Given the description of an element on the screen output the (x, y) to click on. 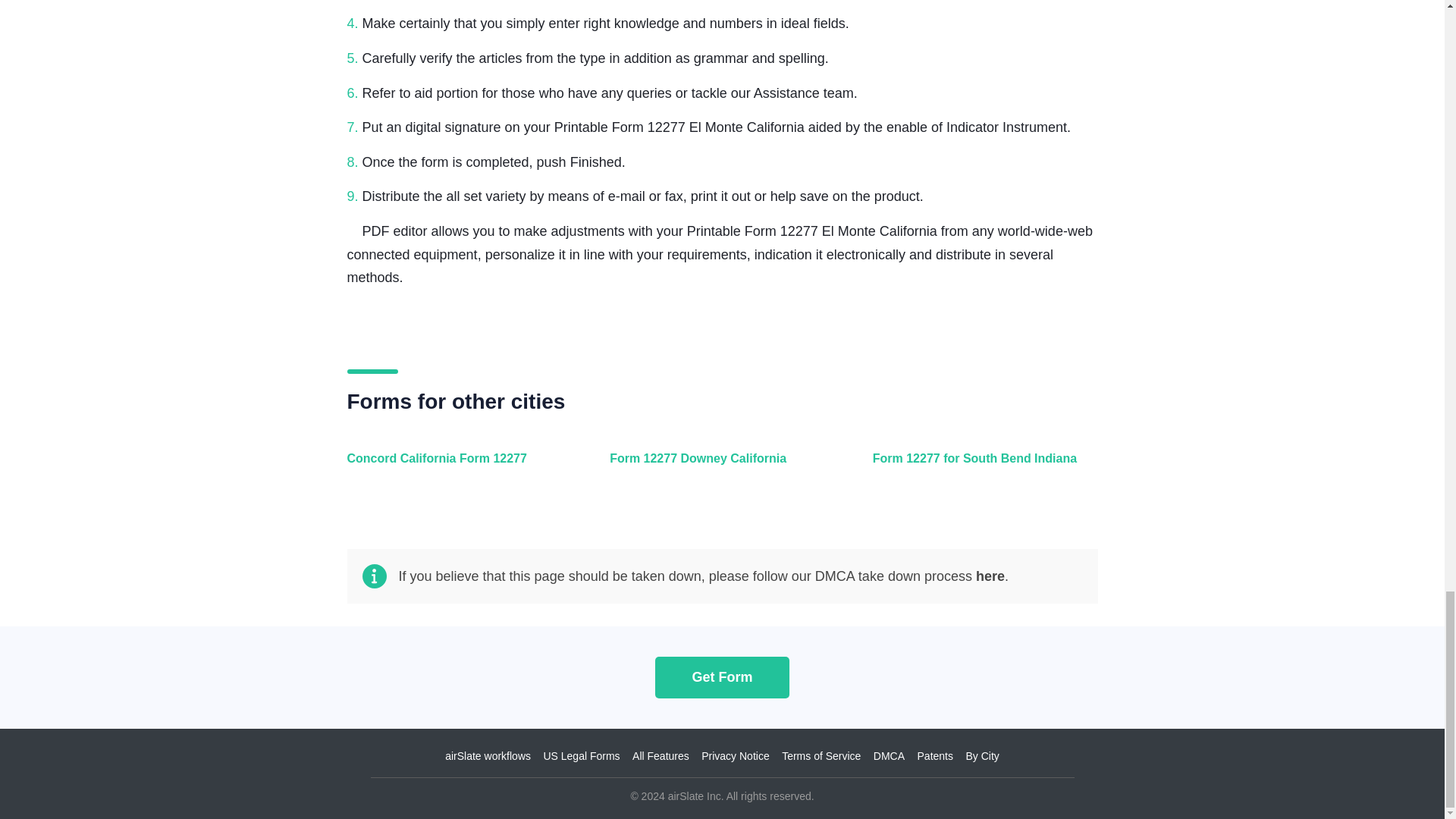
Terms of Service (820, 756)
US Legal Forms (581, 756)
Form 12277 Downey California (718, 466)
Privacy Notice (734, 756)
Form 12277 for South Bend Indiana (981, 466)
airSlate workflows (488, 756)
Patents (935, 756)
here (989, 575)
All Features (659, 756)
Concord California Form 12277 (456, 466)
